Given the description of an element on the screen output the (x, y) to click on. 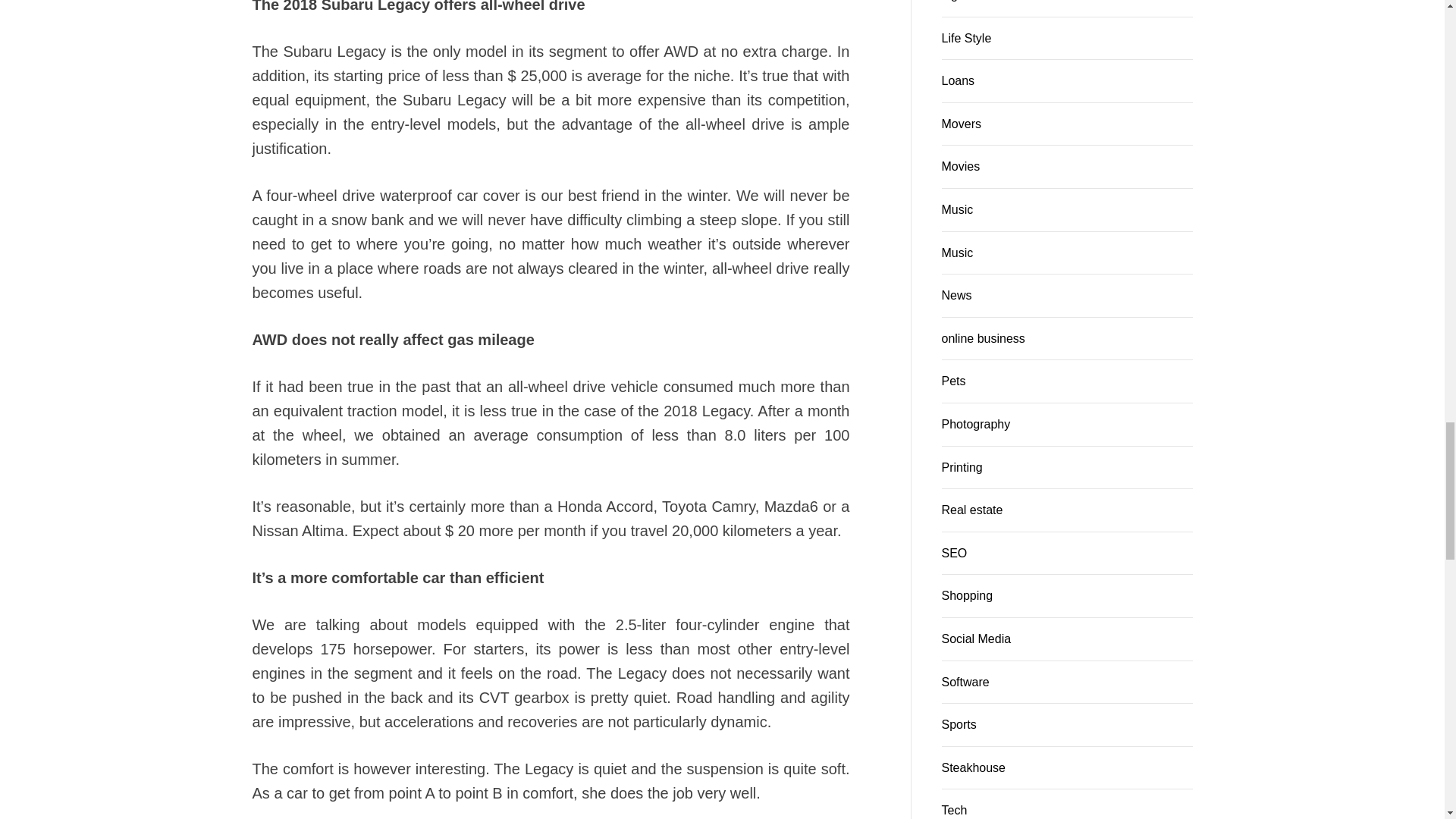
Saturday (1137, 413)
Friday (1102, 413)
Tuesday (994, 413)
Wednesday (1031, 413)
Thursday (1066, 413)
Sunday (1174, 413)
Monday (959, 413)
